Given the description of an element on the screen output the (x, y) to click on. 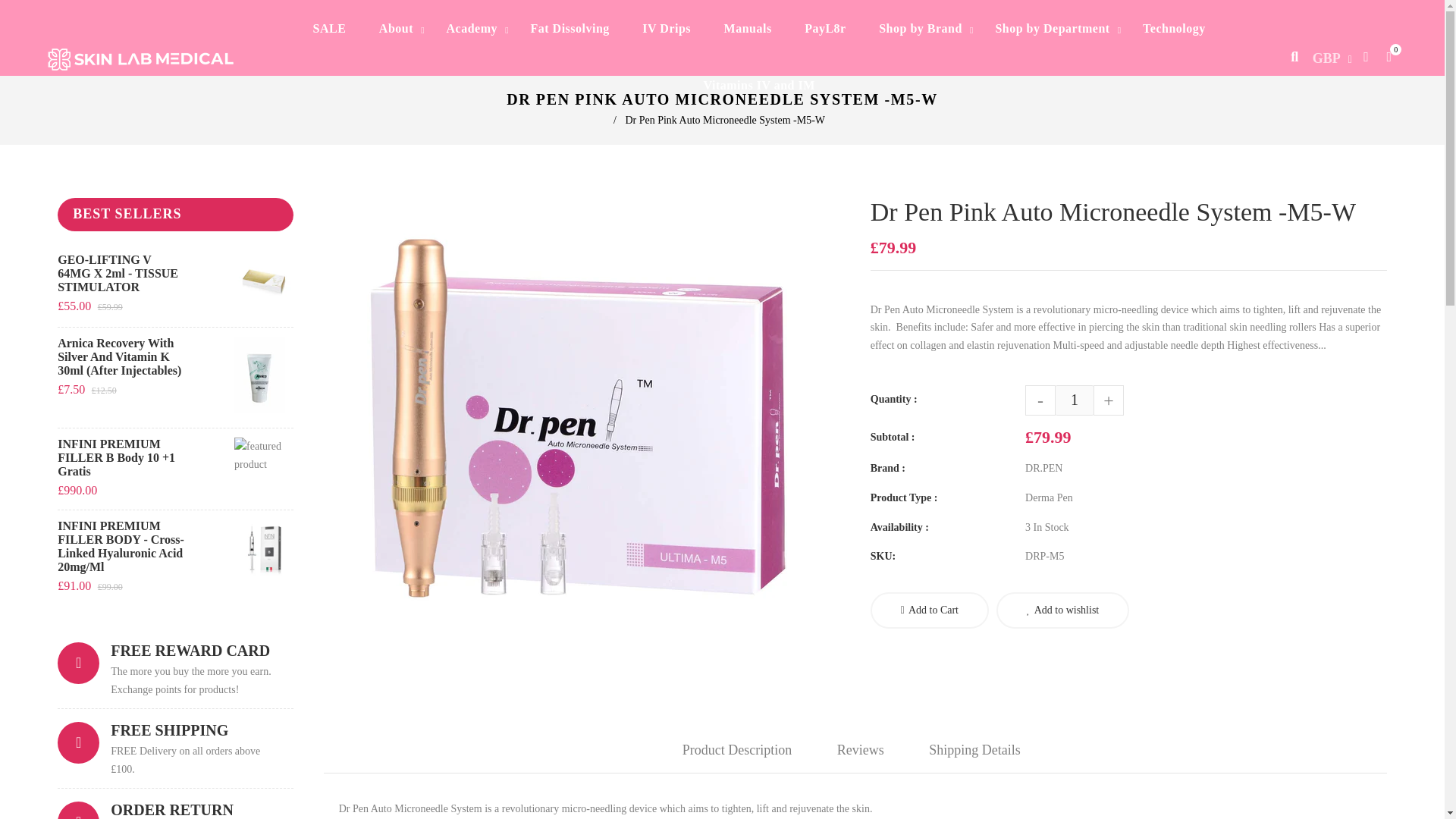
IV Drips (666, 28)
Log in (1365, 56)
About (396, 28)
PayL8r (825, 28)
Shop by Department (1051, 28)
Shop by Brand (919, 28)
SALE (329, 28)
1 (1074, 399)
Add to wishlist (1062, 610)
Fat Dissolving (569, 28)
Manuals (748, 28)
Academy (471, 28)
